Given the description of an element on the screen output the (x, y) to click on. 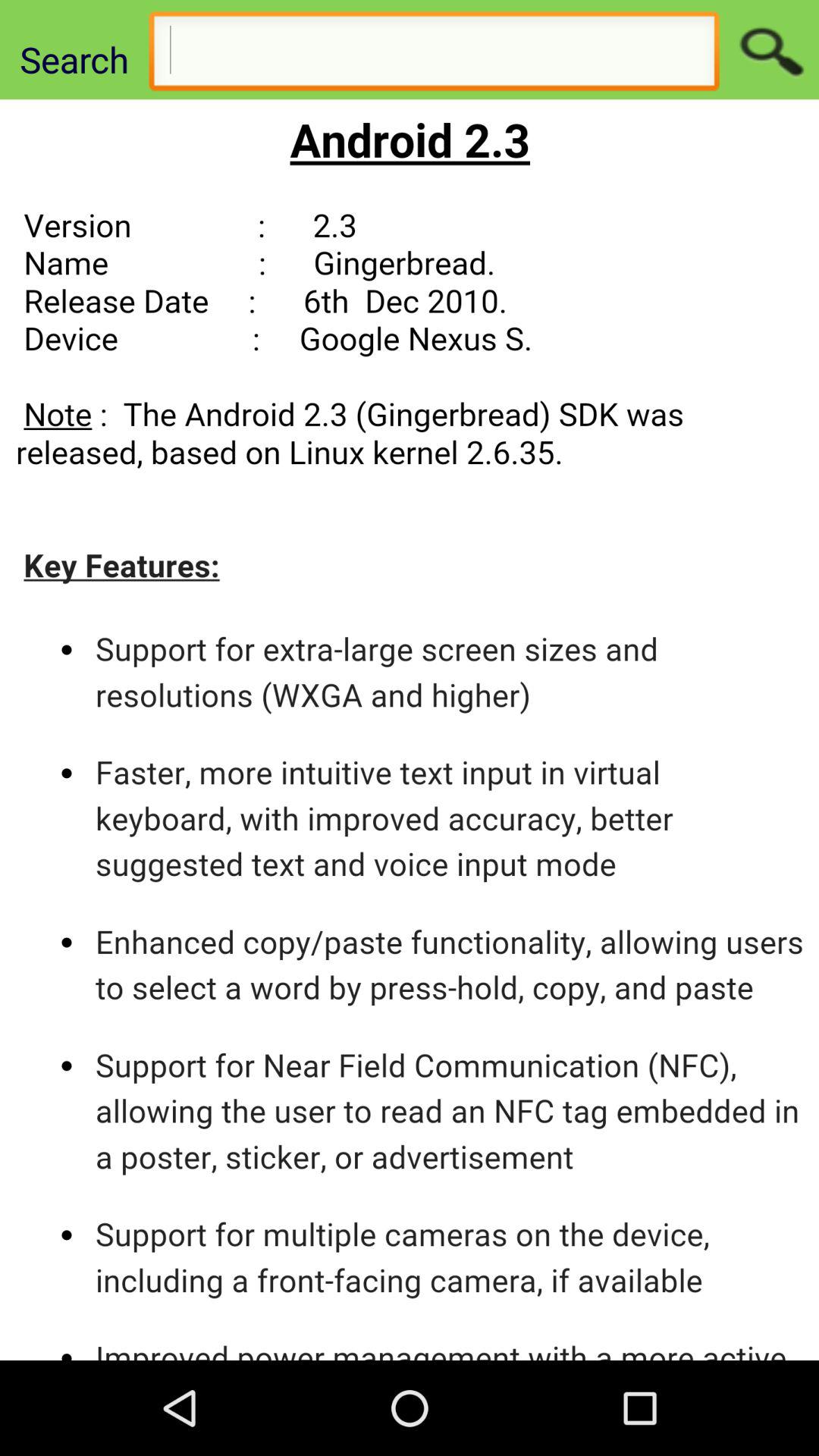
search box (434, 54)
